Given the description of an element on the screen output the (x, y) to click on. 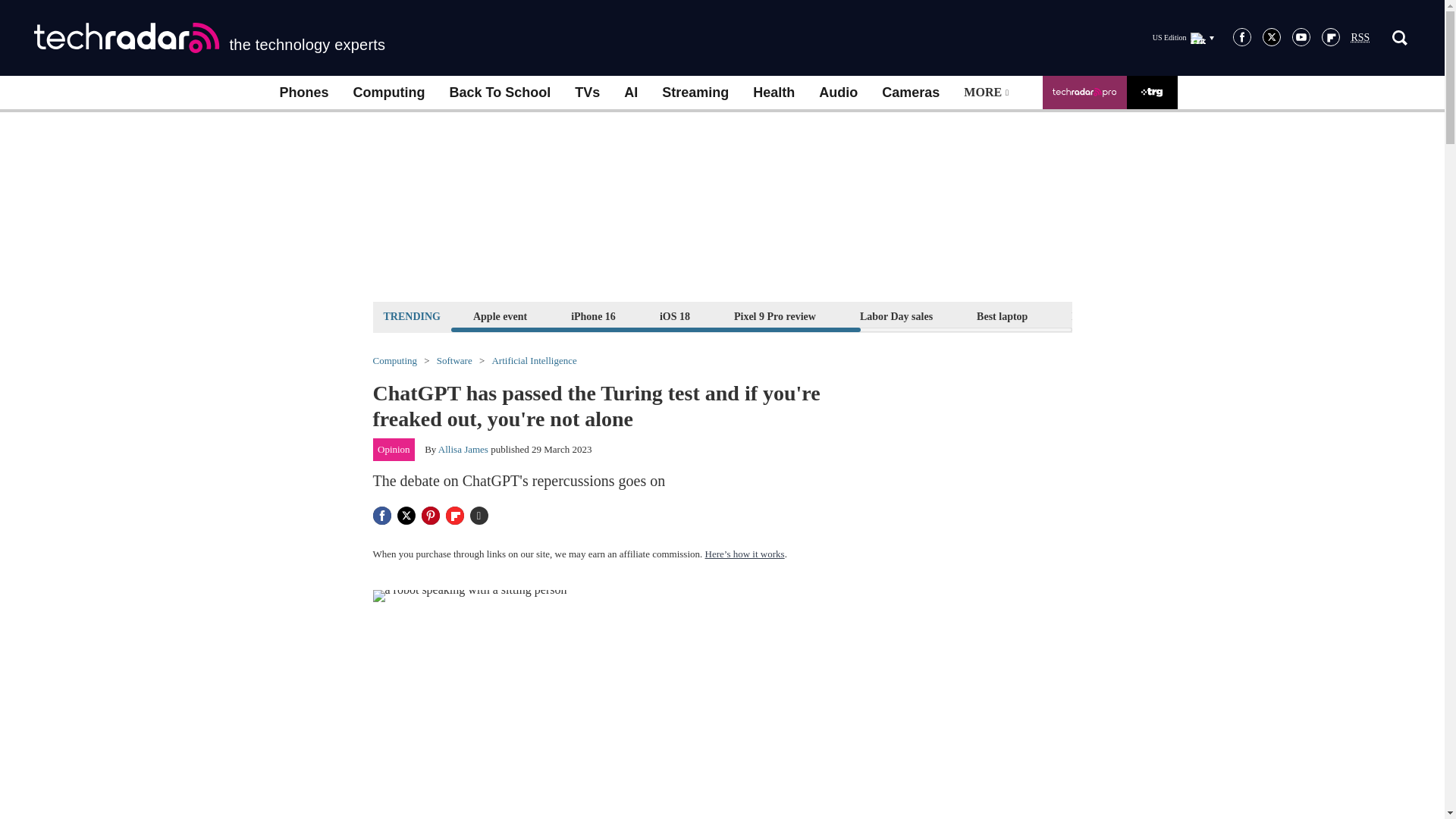
Phones (303, 92)
Back To School (499, 92)
AI (630, 92)
TVs (586, 92)
Streaming (695, 92)
the technology experts (209, 38)
Really Simple Syndication (1360, 37)
US Edition (1182, 37)
Audio (837, 92)
Computing (389, 92)
